Given the description of an element on the screen output the (x, y) to click on. 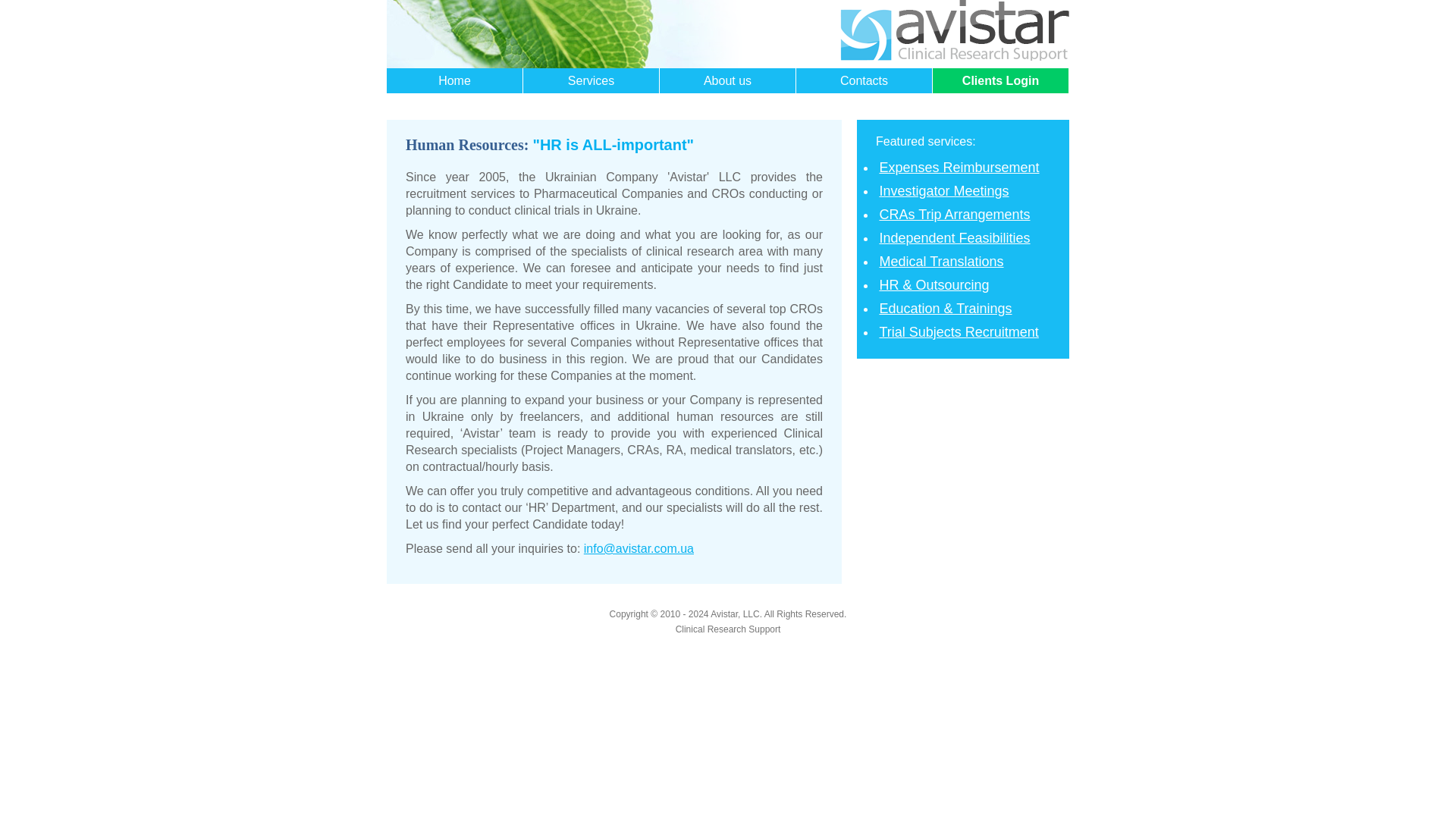
CRAs Trip Arrangements (954, 214)
Medical Translations (941, 261)
Contacts (863, 80)
Investigator Meetings (944, 191)
Independent Feasibilities (954, 237)
Expenses Reimbursement (959, 167)
About us (726, 80)
Clients Login (1000, 80)
Home (454, 80)
Services (590, 80)
Trial Subjects Recruitment (958, 331)
